Given the description of an element on the screen output the (x, y) to click on. 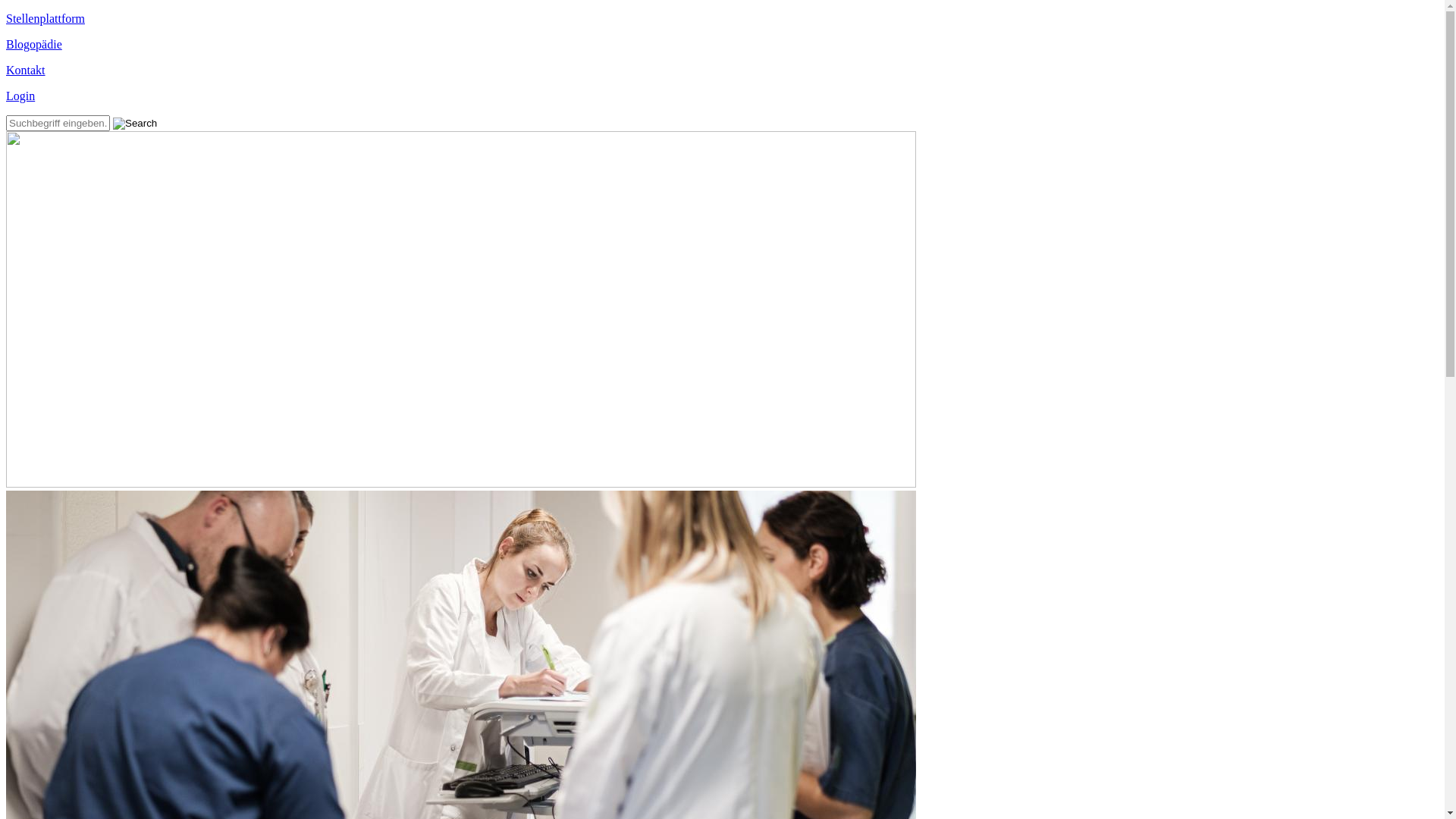
Geben Sie die Begriffe ein, nach denen Sie suchen. Element type: hover (57, 123)
Direkt zum Inhalt Element type: text (49, 12)
Login Element type: text (722, 96)
Stellenplattform Element type: text (722, 18)
Kontakt Element type: text (722, 70)
